Given the description of an element on the screen output the (x, y) to click on. 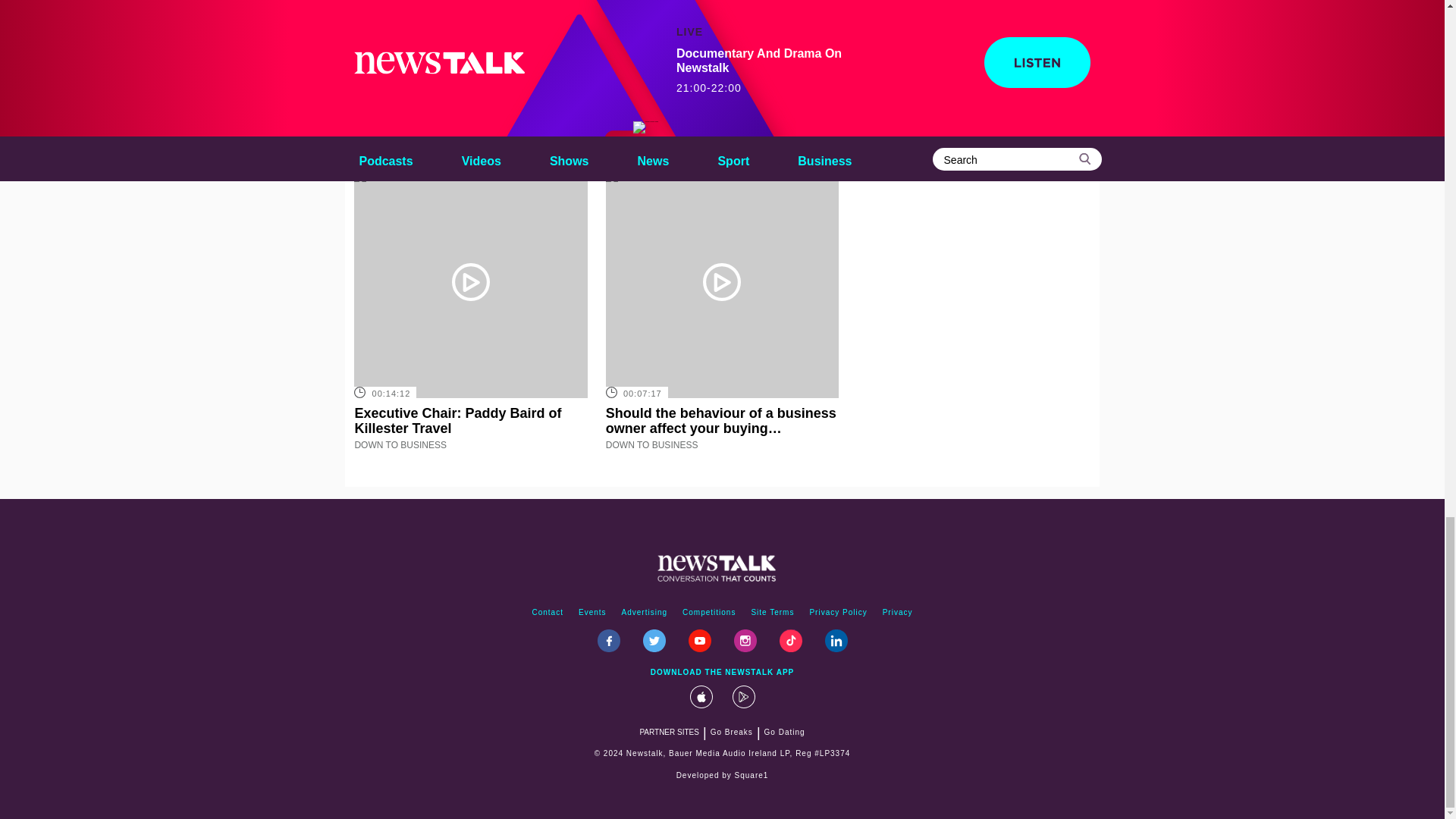
competitions (708, 612)
site terms (772, 612)
advertising (644, 612)
Privacy Policy (838, 612)
events (592, 612)
Privacy (897, 612)
contact (547, 612)
